Given the description of an element on the screen output the (x, y) to click on. 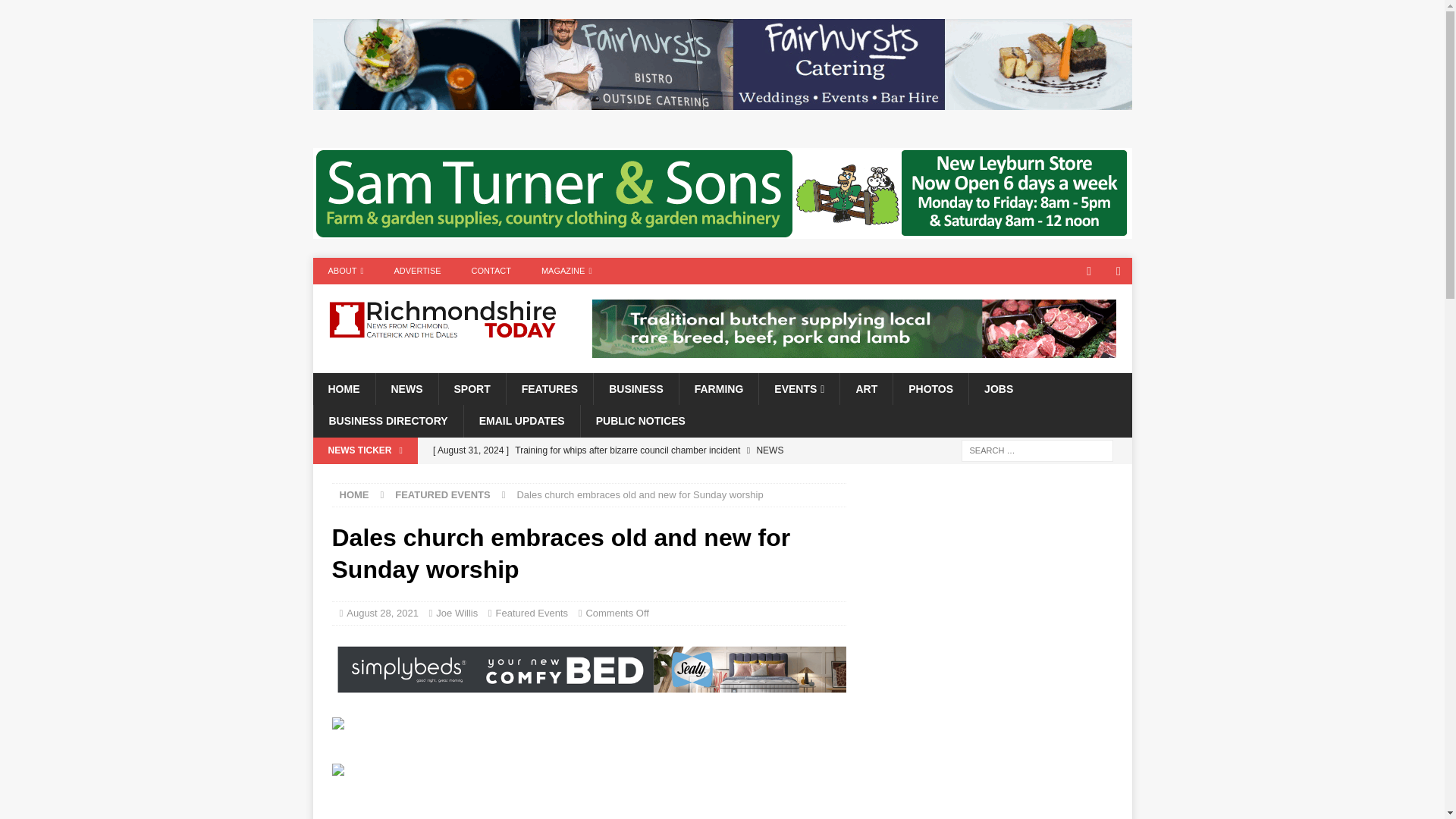
EVENTS (799, 388)
PUBLIC NOTICES (639, 420)
NEWS (406, 388)
Rescue volunteers come to aid of mountain biker (634, 475)
CONTACT (491, 270)
JOBS (997, 388)
BUSINESS (635, 388)
PHOTOS (930, 388)
ADVERTISE (416, 270)
EMAIL UPDATES (521, 420)
